Given the description of an element on the screen output the (x, y) to click on. 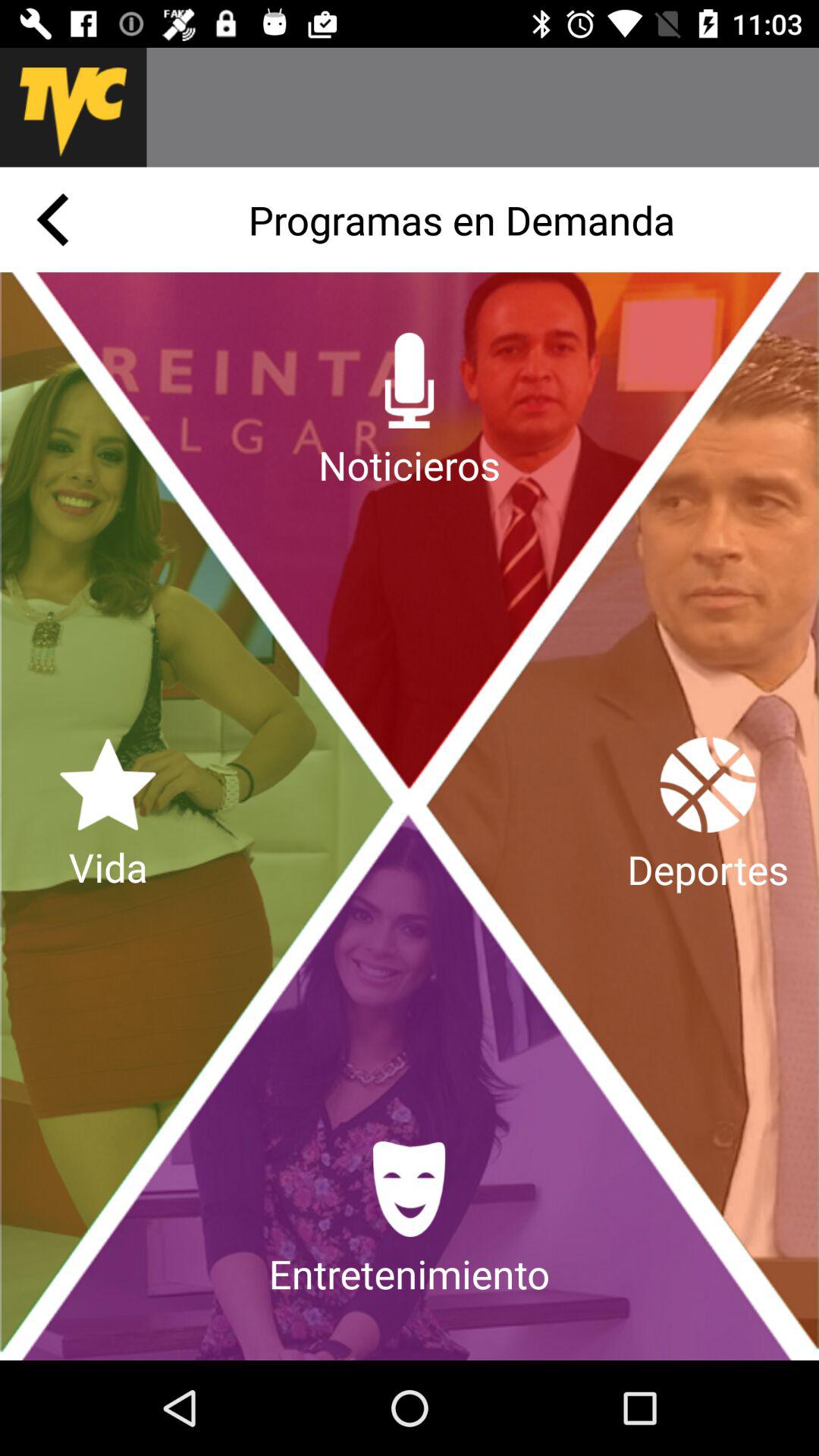
go back (52, 219)
